Given the description of an element on the screen output the (x, y) to click on. 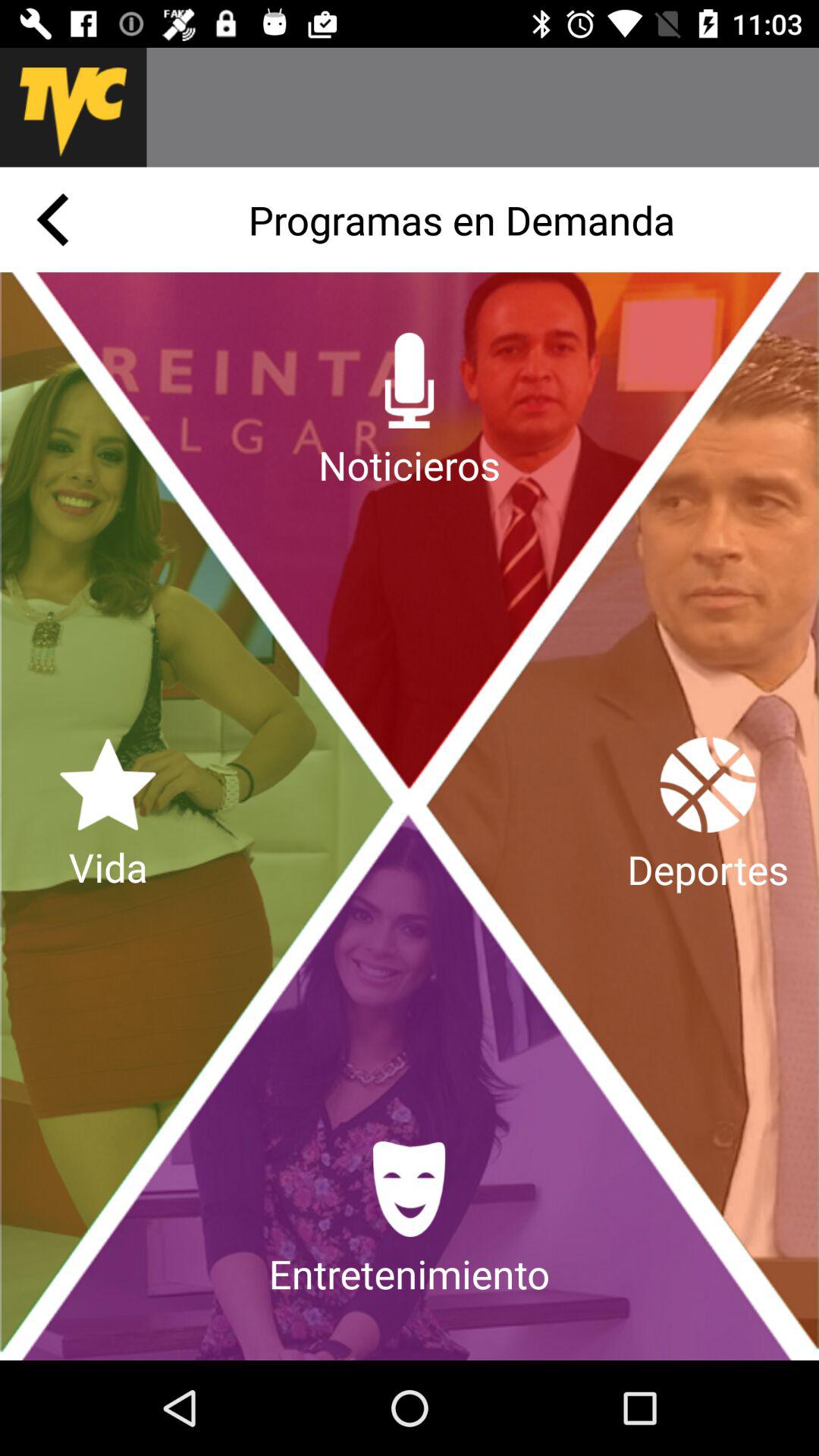
go back (52, 219)
